Given the description of an element on the screen output the (x, y) to click on. 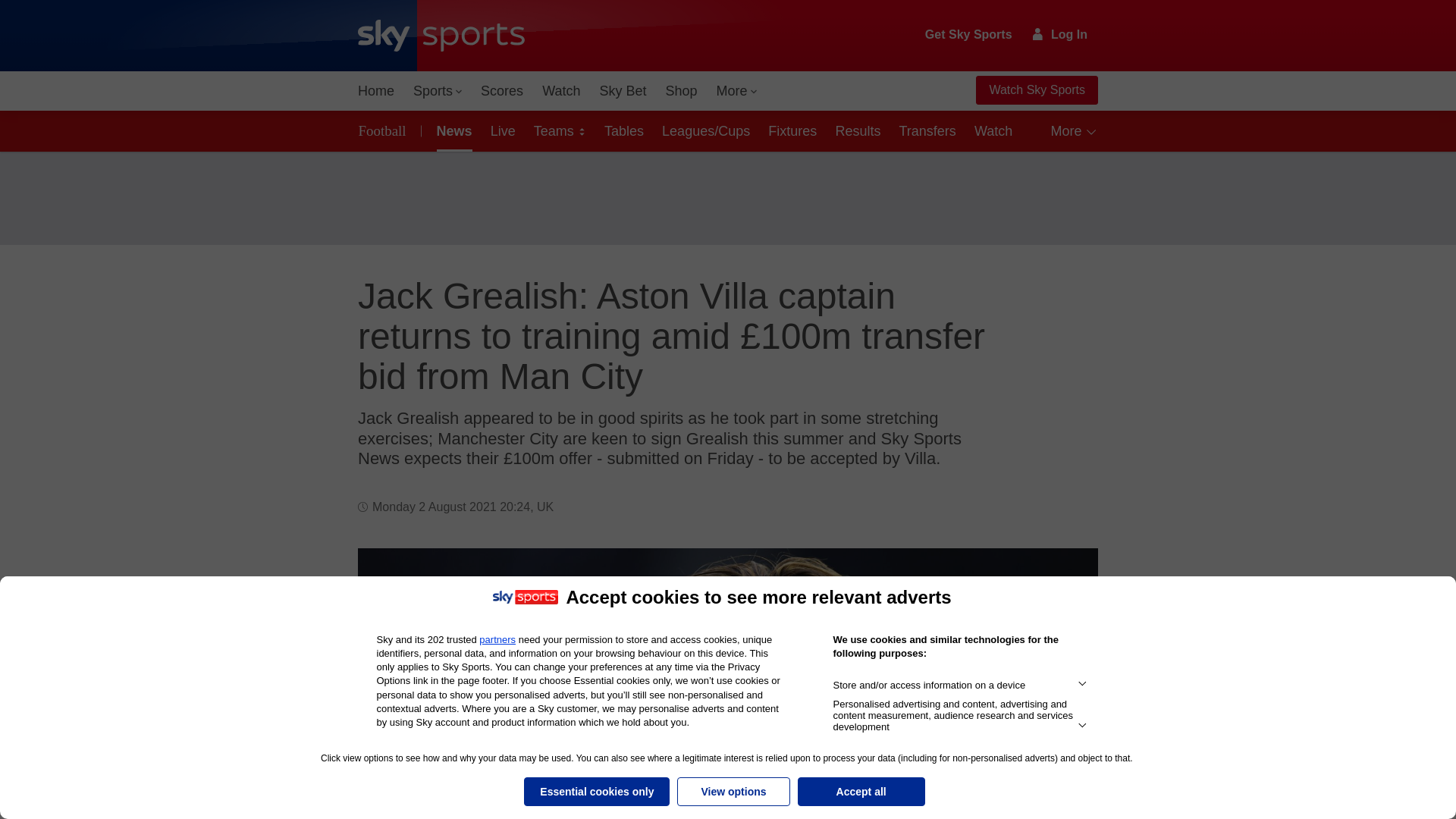
Shop (681, 91)
More (736, 91)
Sky Bet (622, 91)
News (451, 130)
Sports (437, 91)
Log In (1060, 33)
Football (385, 130)
Watch (561, 91)
Scores (502, 91)
Home (375, 91)
